Given the description of an element on the screen output the (x, y) to click on. 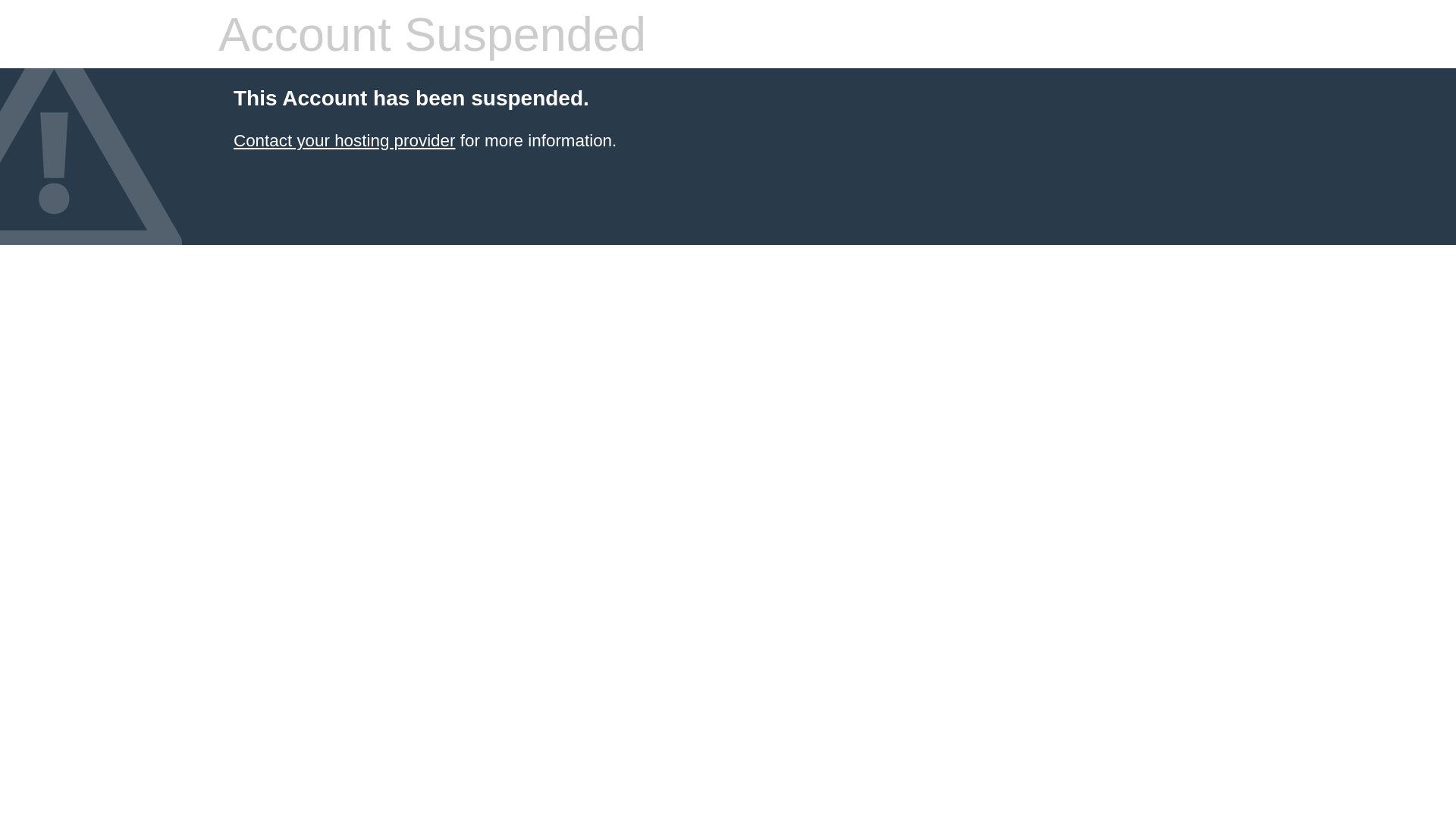
Contact your hosting provider Element type: text (344, 140)
